Given the description of an element on the screen output the (x, y) to click on. 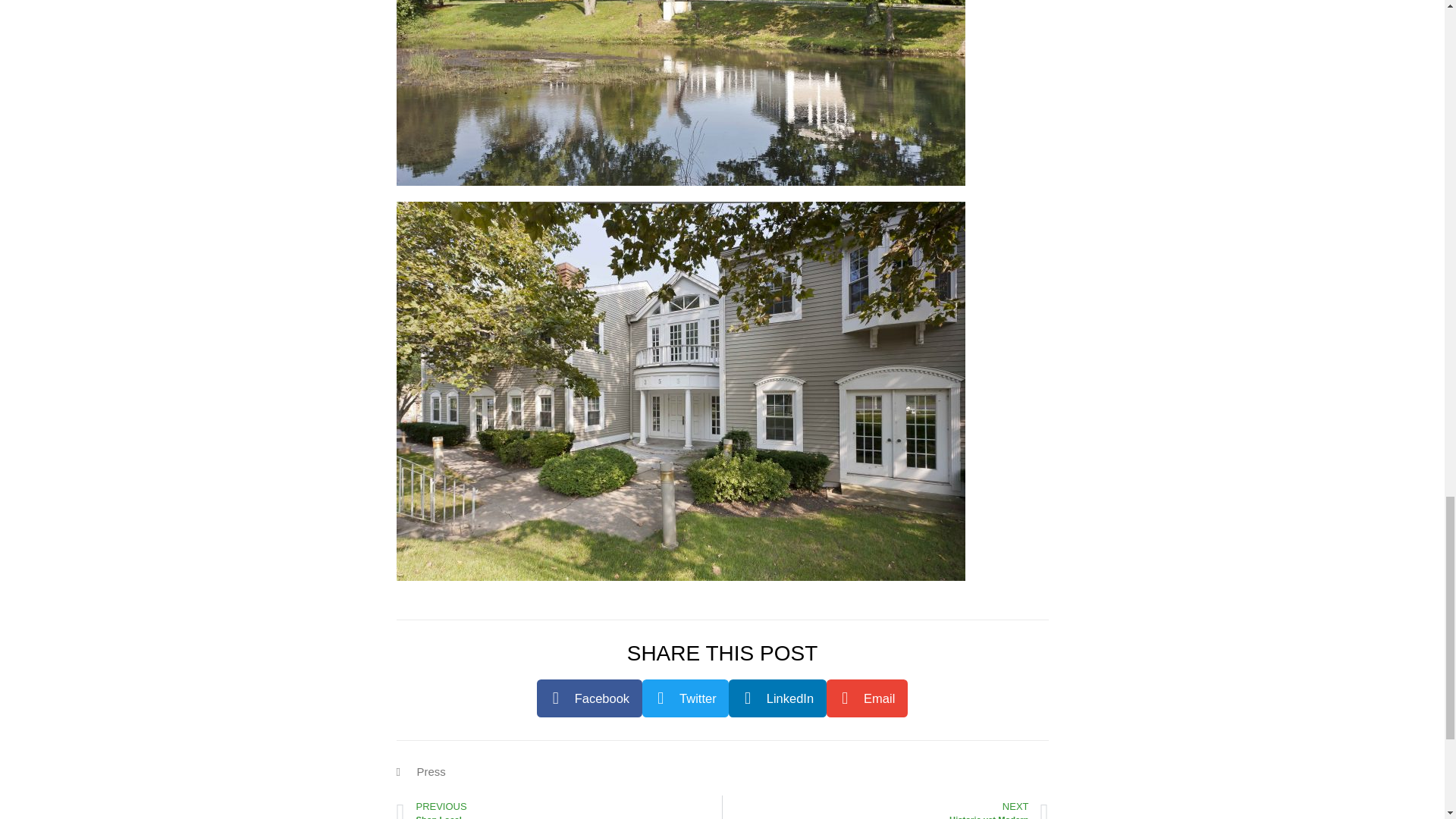
Press (430, 771)
